Given the description of an element on the screen output the (x, y) to click on. 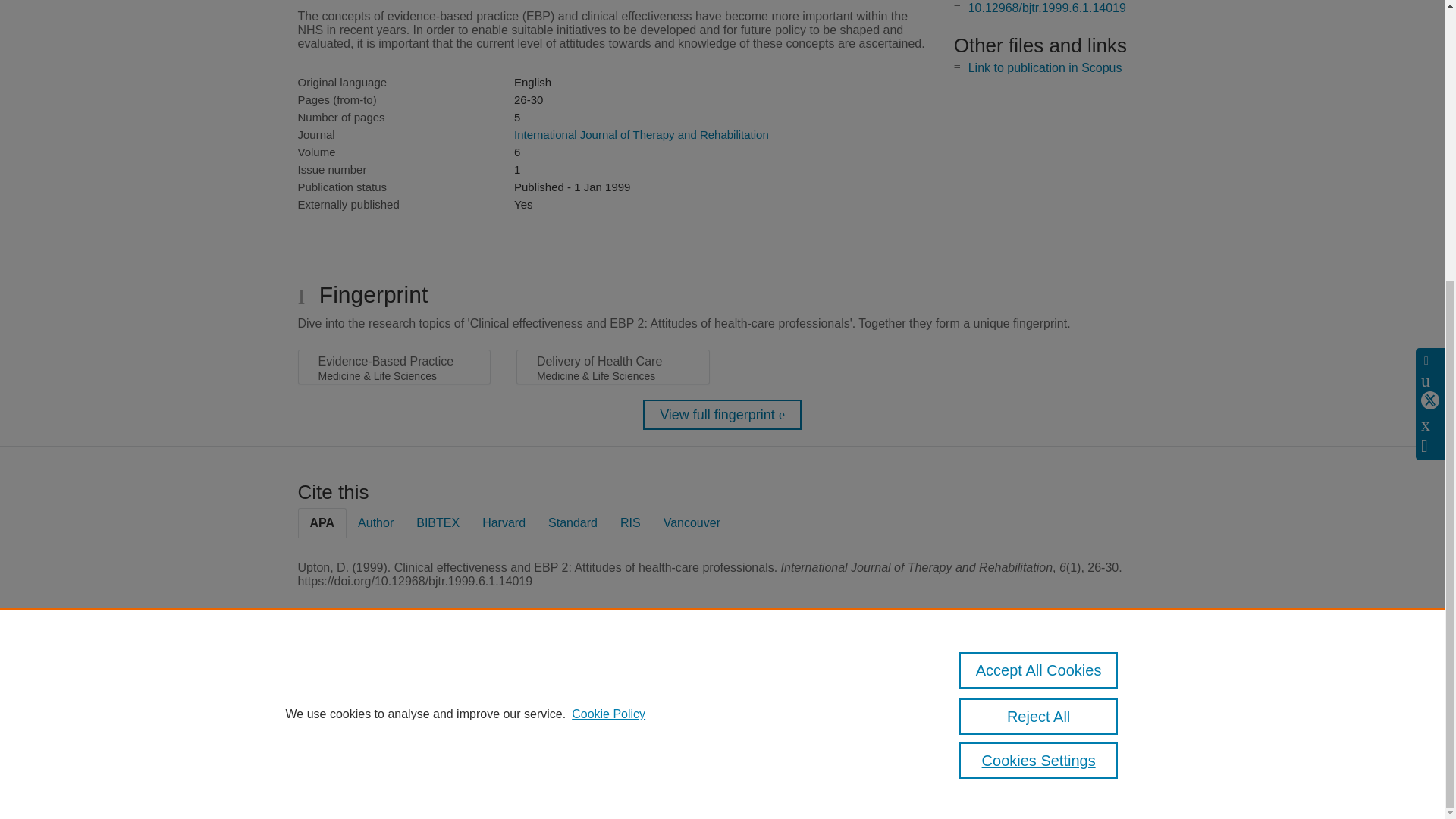
Cookies Settings (334, 760)
Link to publication in Scopus (1045, 67)
Elsevier B.V. (506, 707)
View full fingerprint (722, 414)
Pure (362, 686)
Scopus (394, 686)
Report vulnerability (1088, 724)
International Journal of Therapy and Rehabilitation (640, 133)
Log in to Pure (327, 781)
About web accessibility (1088, 692)
